Given the description of an element on the screen output the (x, y) to click on. 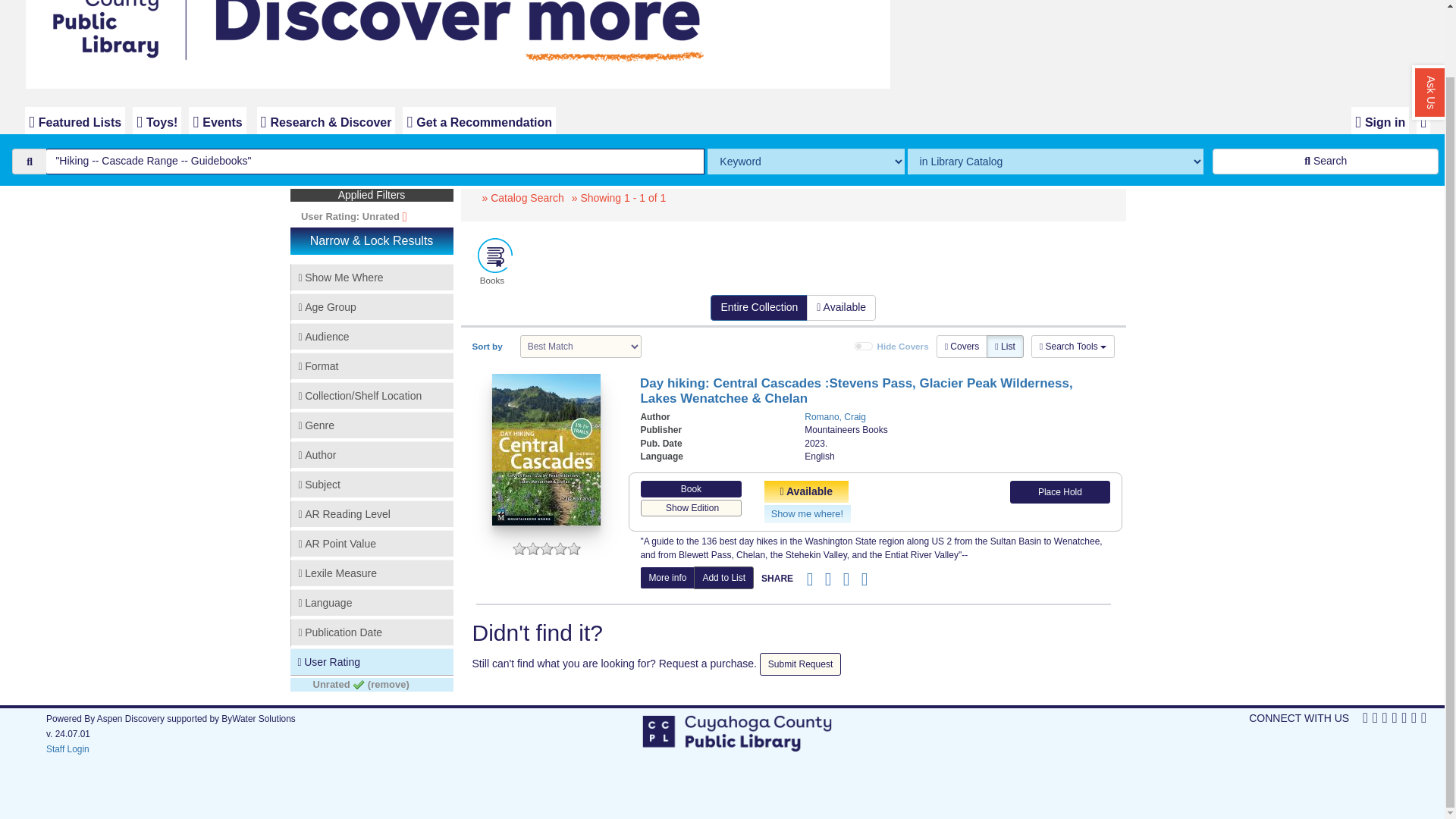
 Search (1325, 161)
on (863, 346)
Show Menu (1422, 120)
Sign in (1380, 120)
Events (217, 120)
Login (1380, 120)
Featured Lists (74, 120)
"Hiking -- Cascade Range -- Guidebooks" (375, 161)
Toys! (156, 120)
Get a Recommendation (479, 120)
Library Home (449, 48)
